Given the description of an element on the screen output the (x, y) to click on. 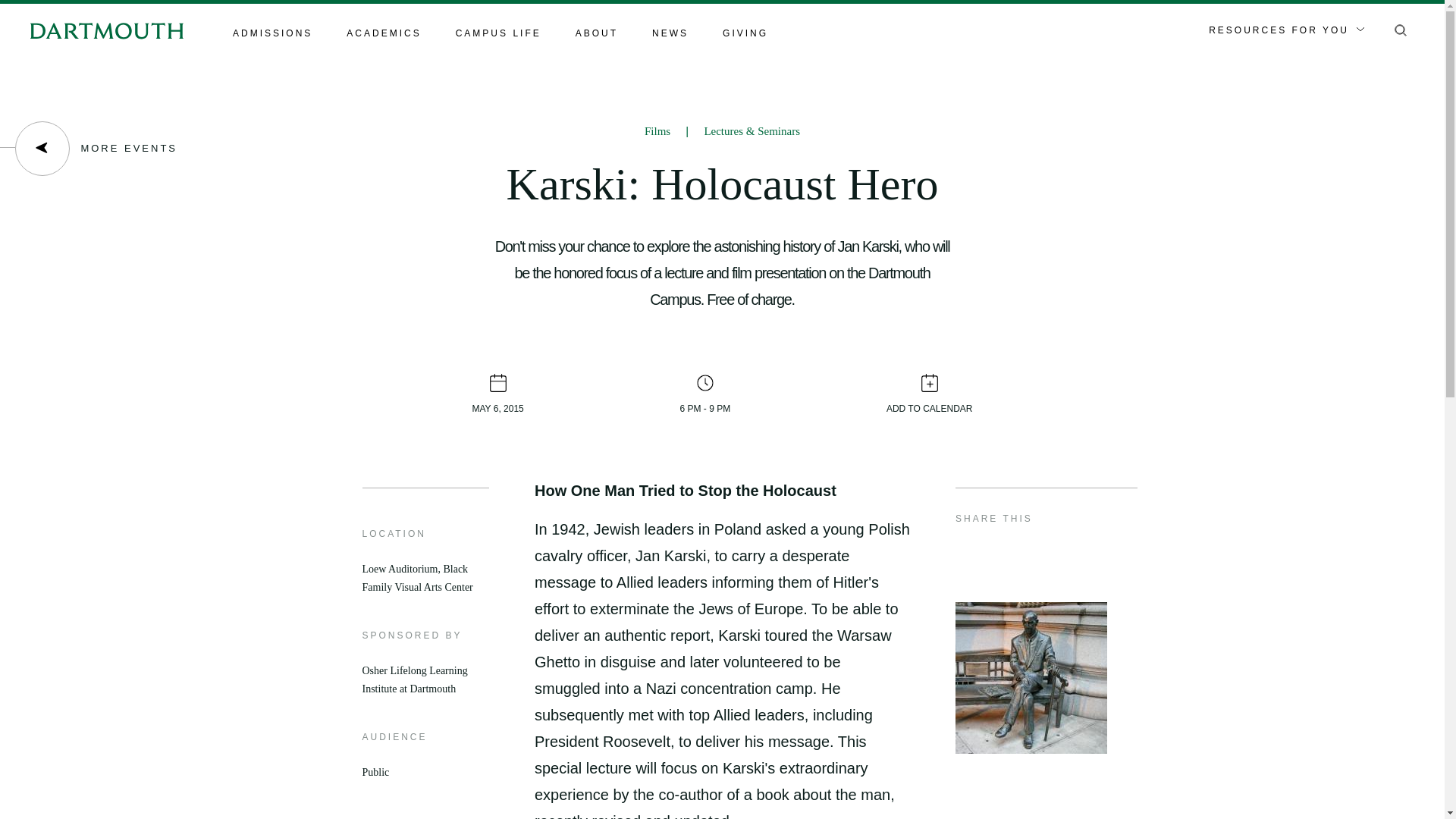
ABOUT (596, 33)
Admissions (272, 33)
Academics (383, 33)
ADMISSIONS (272, 33)
Home (106, 29)
CAMPUS LIFE (498, 33)
ACADEMICS (383, 33)
Home (106, 29)
